Given the description of an element on the screen output the (x, y) to click on. 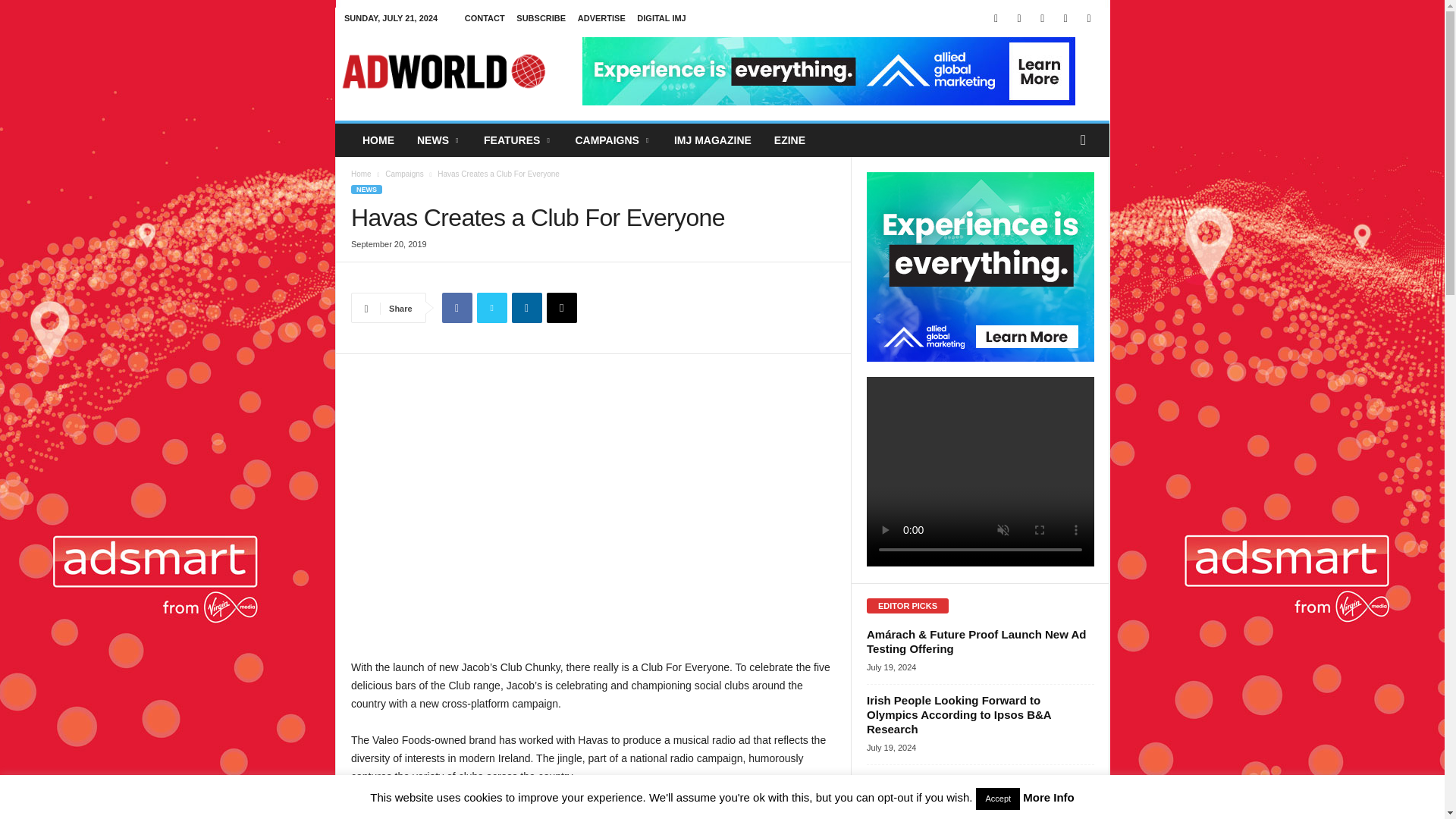
DIGITAL IMJ (661, 17)
NEWS (438, 140)
HOME (378, 140)
CONTACT (484, 17)
AdWorld.ie (442, 70)
Adworld Logo (442, 71)
ADVERTISE (602, 17)
SUBSCRIBE (541, 17)
